Given the description of an element on the screen output the (x, y) to click on. 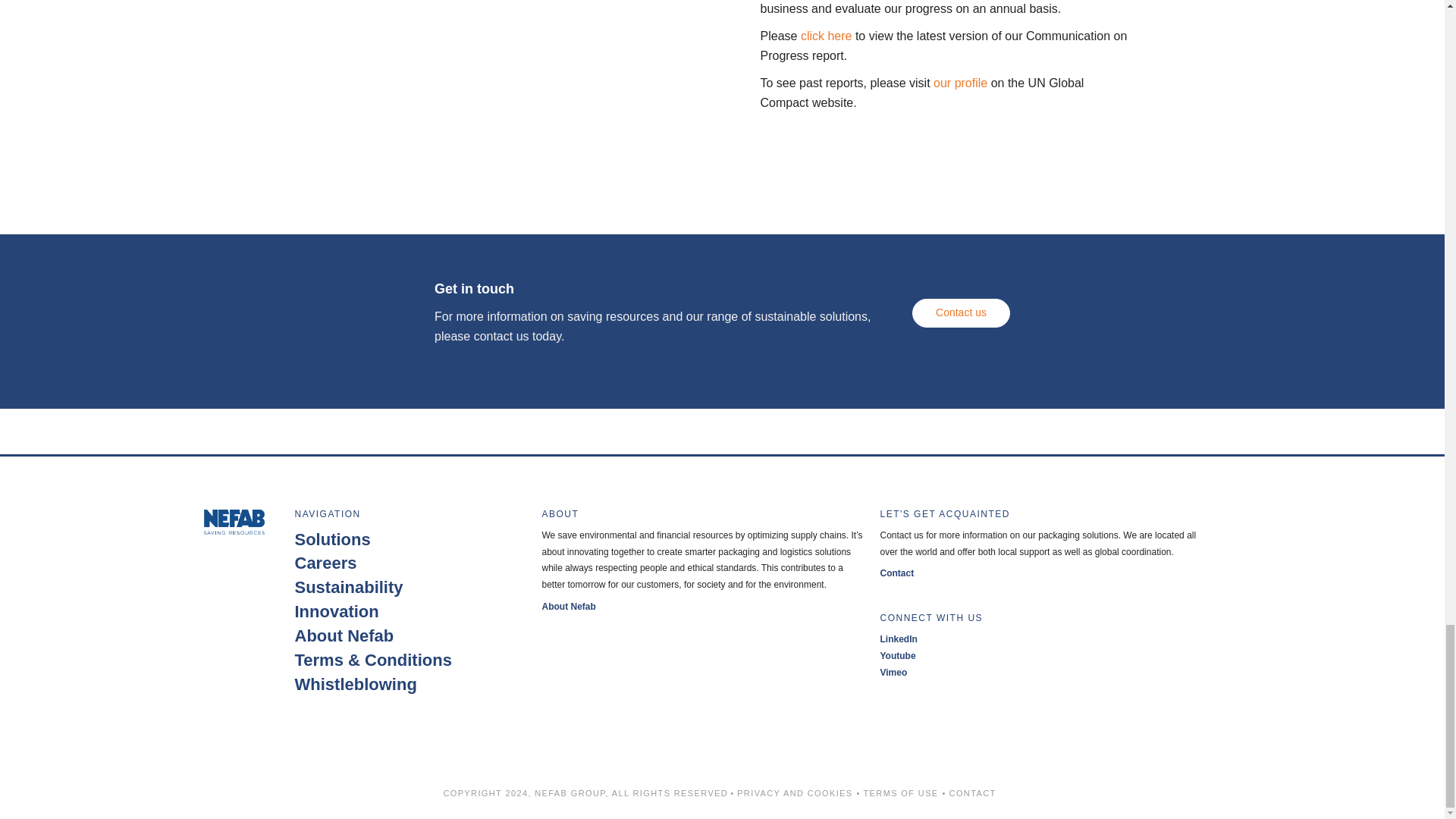
Communication on Progress 2021 (825, 35)
Global Compact (960, 82)
